Given the description of an element on the screen output the (x, y) to click on. 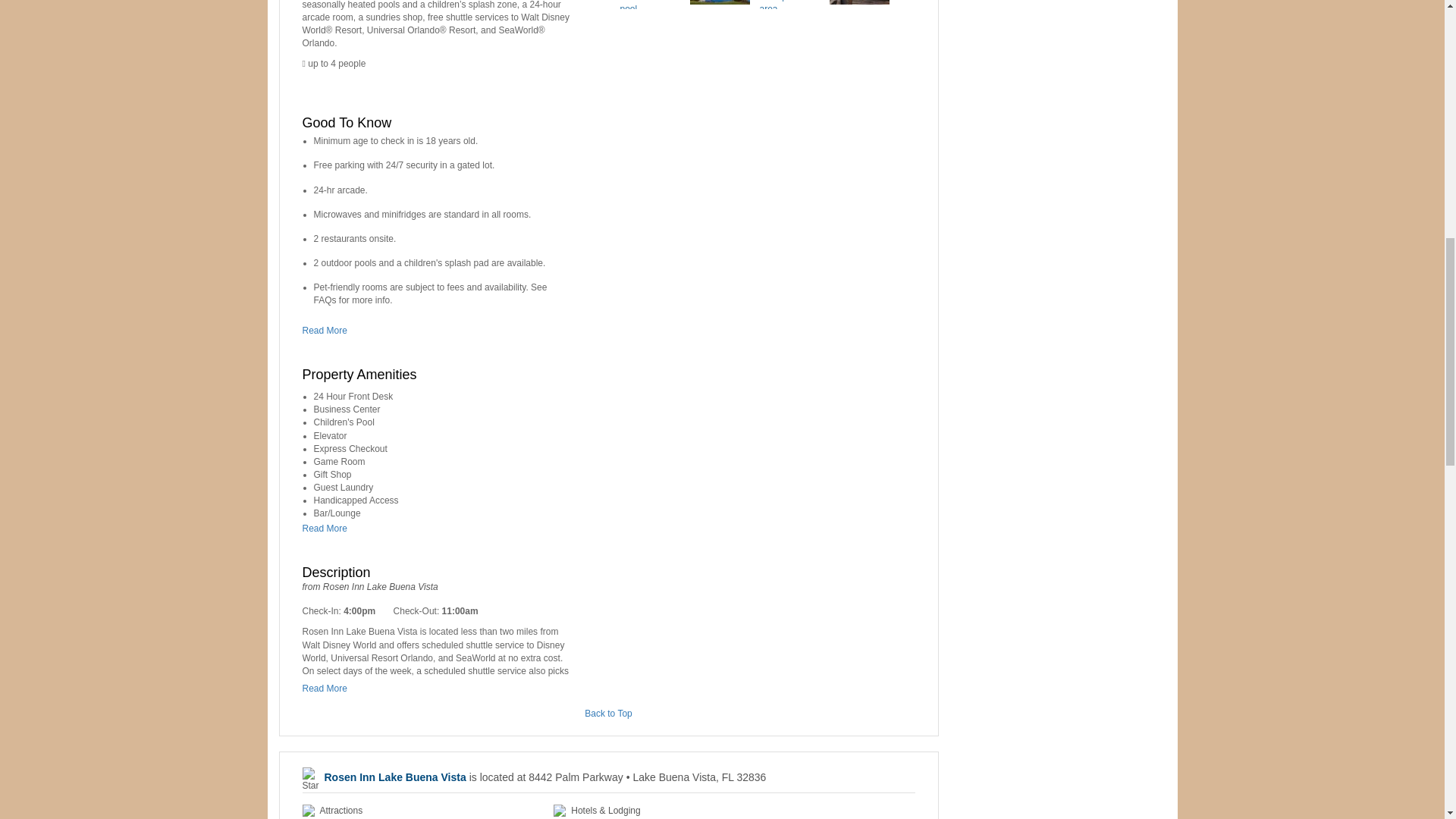
Read More (328, 330)
Read More (328, 528)
Read More (328, 688)
